Given the description of an element on the screen output the (x, y) to click on. 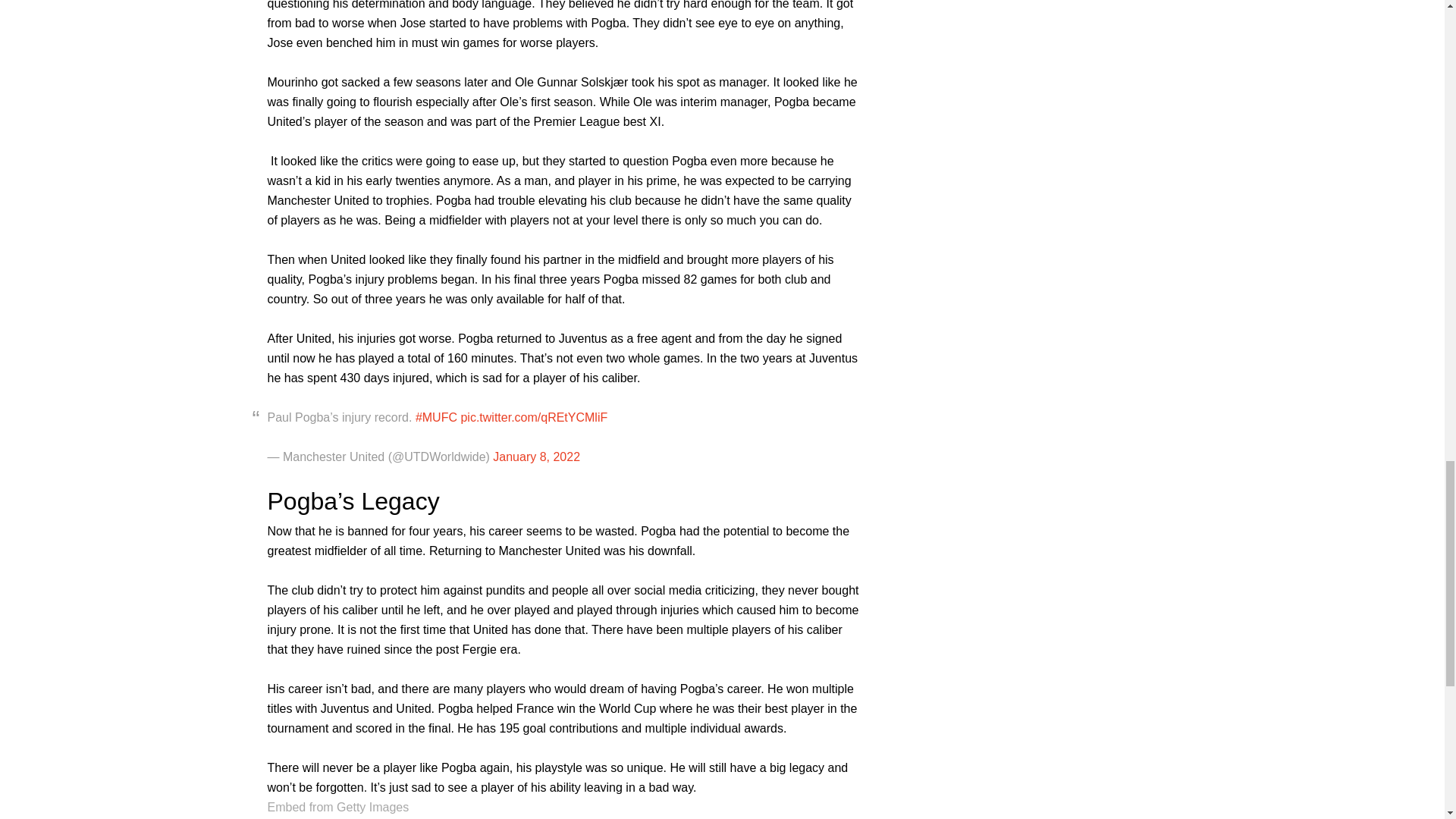
Embed from Getty Images (337, 807)
January 8, 2022 (536, 456)
